Given the description of an element on the screen output the (x, y) to click on. 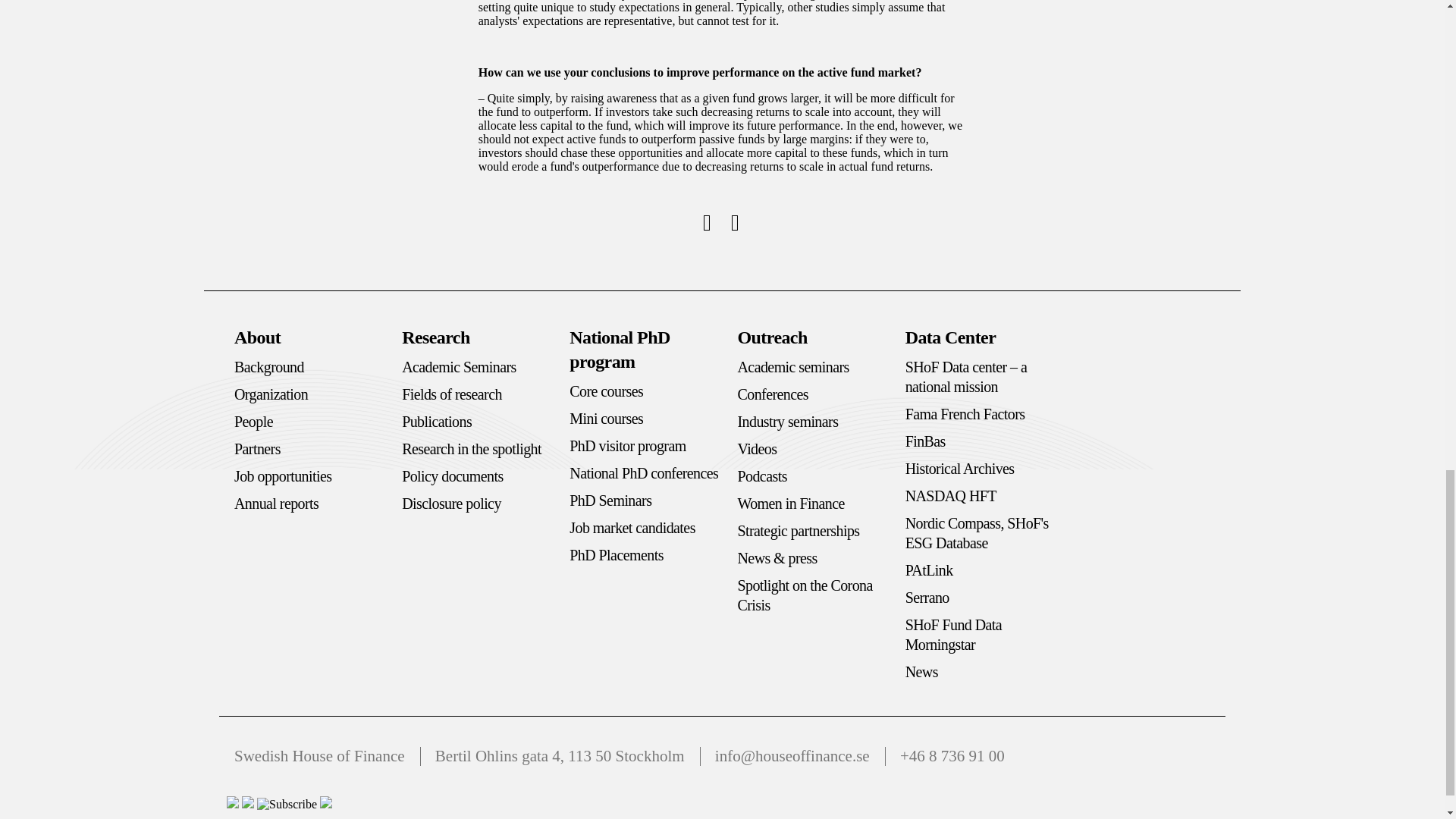
Subscribe (287, 803)
Contact (325, 803)
LinkedIn (232, 803)
